Given the description of an element on the screen output the (x, y) to click on. 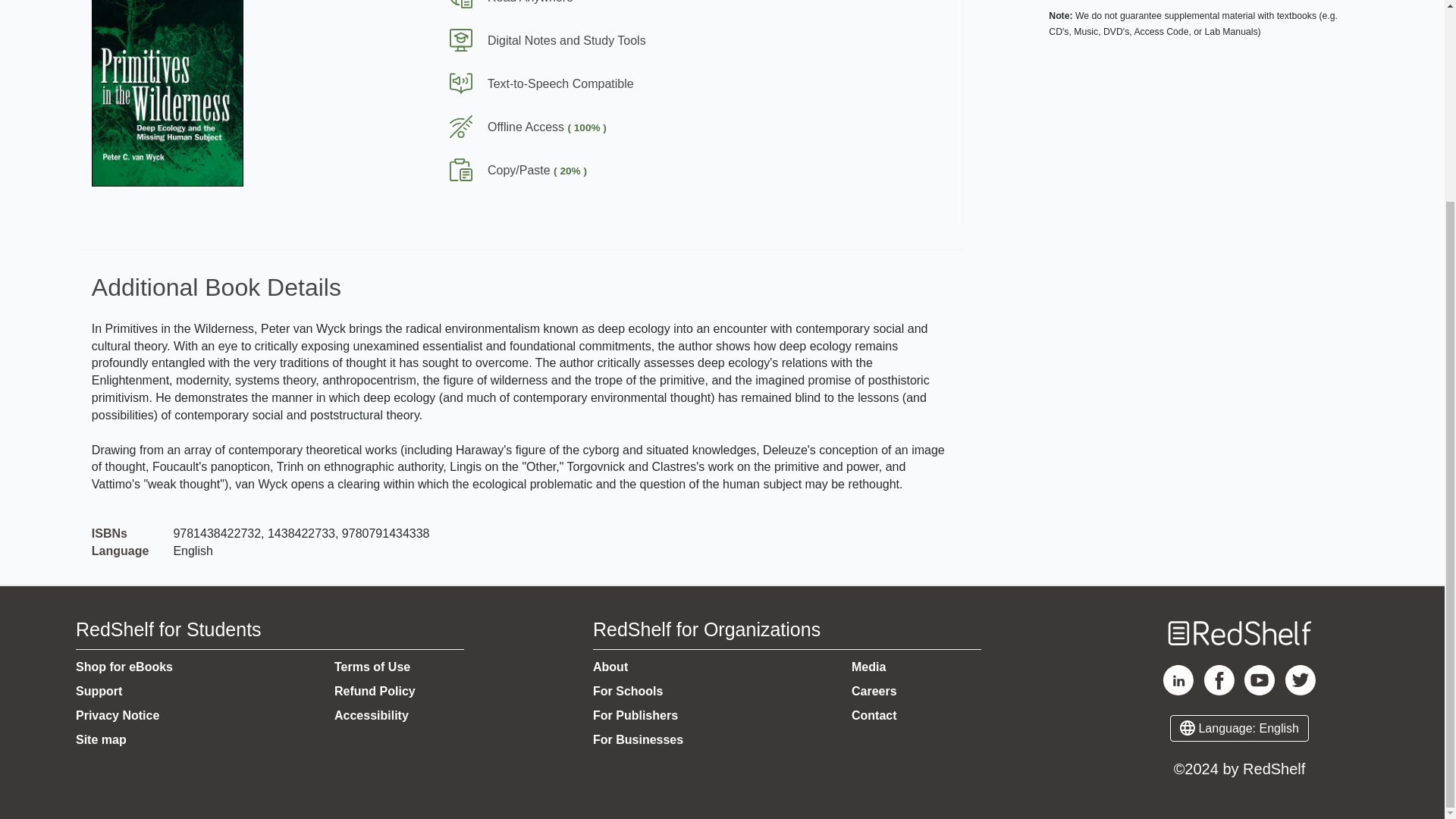
For Publishers (635, 715)
Digital Notes and Study Tools (541, 40)
Privacy Notice (116, 715)
Read Anywhere (505, 2)
Site map (100, 739)
Careers (873, 690)
Offline Capabilities (674, 127)
Refund Policy (374, 690)
Digital Book Features (674, 96)
For Schools (627, 690)
Support (98, 690)
Media (868, 666)
Purchase and Rental Options (1203, 19)
Supplemental Warning (1203, 22)
Text-to-Speech Compatible (535, 83)
